Given the description of an element on the screen output the (x, y) to click on. 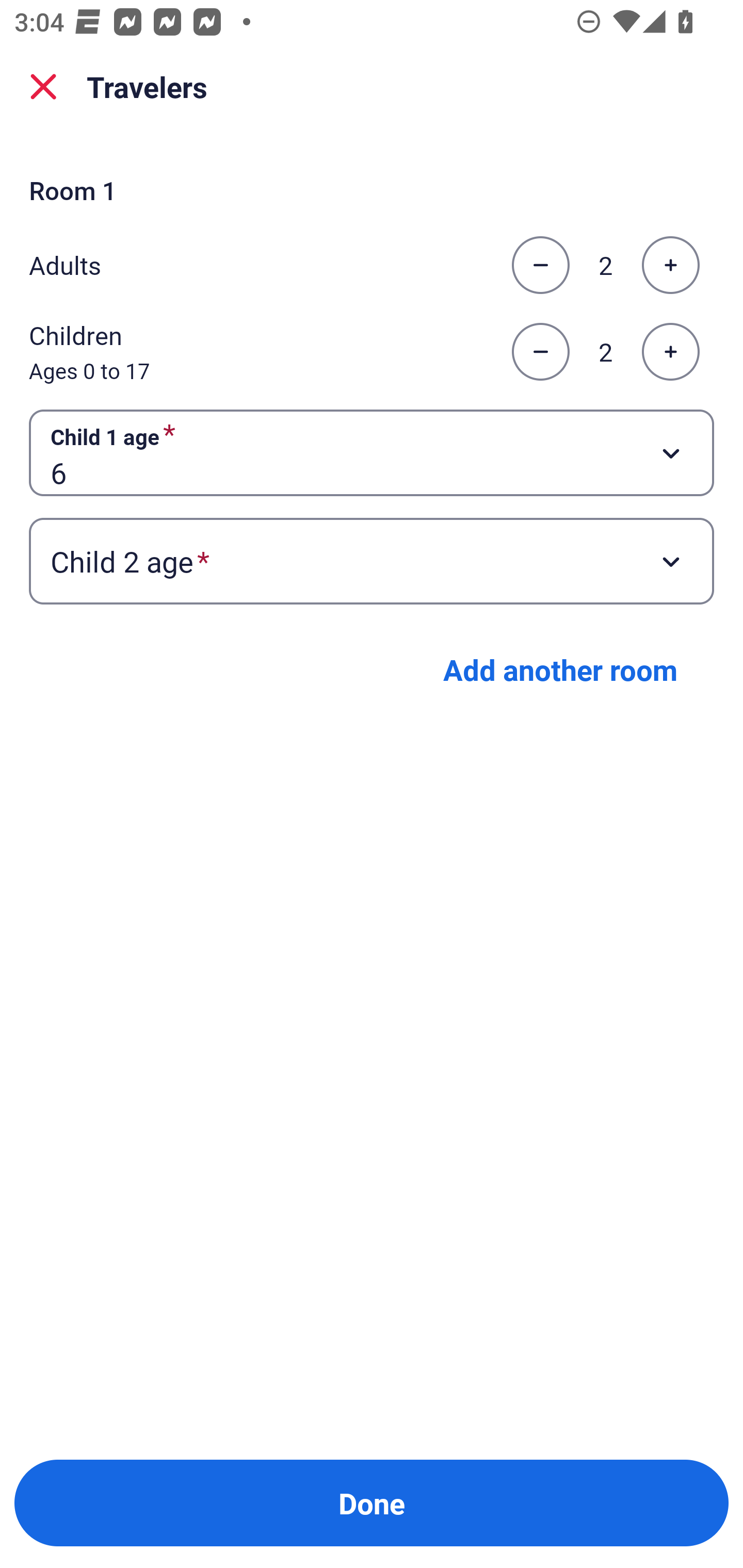
close (43, 86)
Decrease the number of adults (540, 264)
Increase the number of adults (670, 264)
Decrease the number of children (540, 351)
Increase the number of children (670, 351)
Child 1 age required Button 6 (371, 452)
Child 2 age required Button (371, 561)
Add another room (560, 669)
Done (371, 1502)
